Given the description of an element on the screen output the (x, y) to click on. 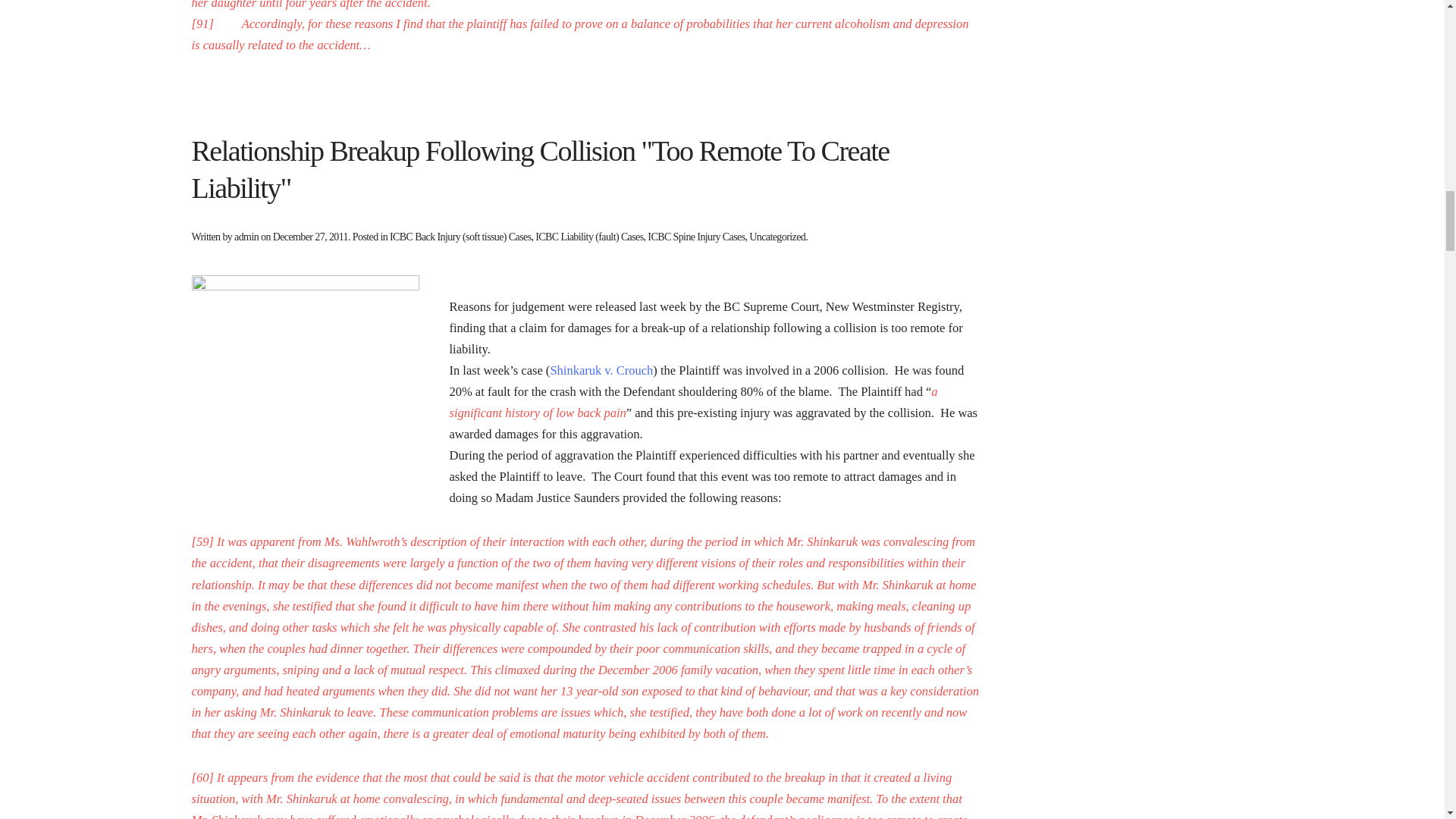
admin (246, 236)
ICBC Spine Injury Cases (695, 236)
Shinkaruk v. Crouch (601, 370)
bc-injury-law-relationship-break-up-too-remote-for-damages (304, 388)
Uncategorized (777, 236)
